Given the description of an element on the screen output the (x, y) to click on. 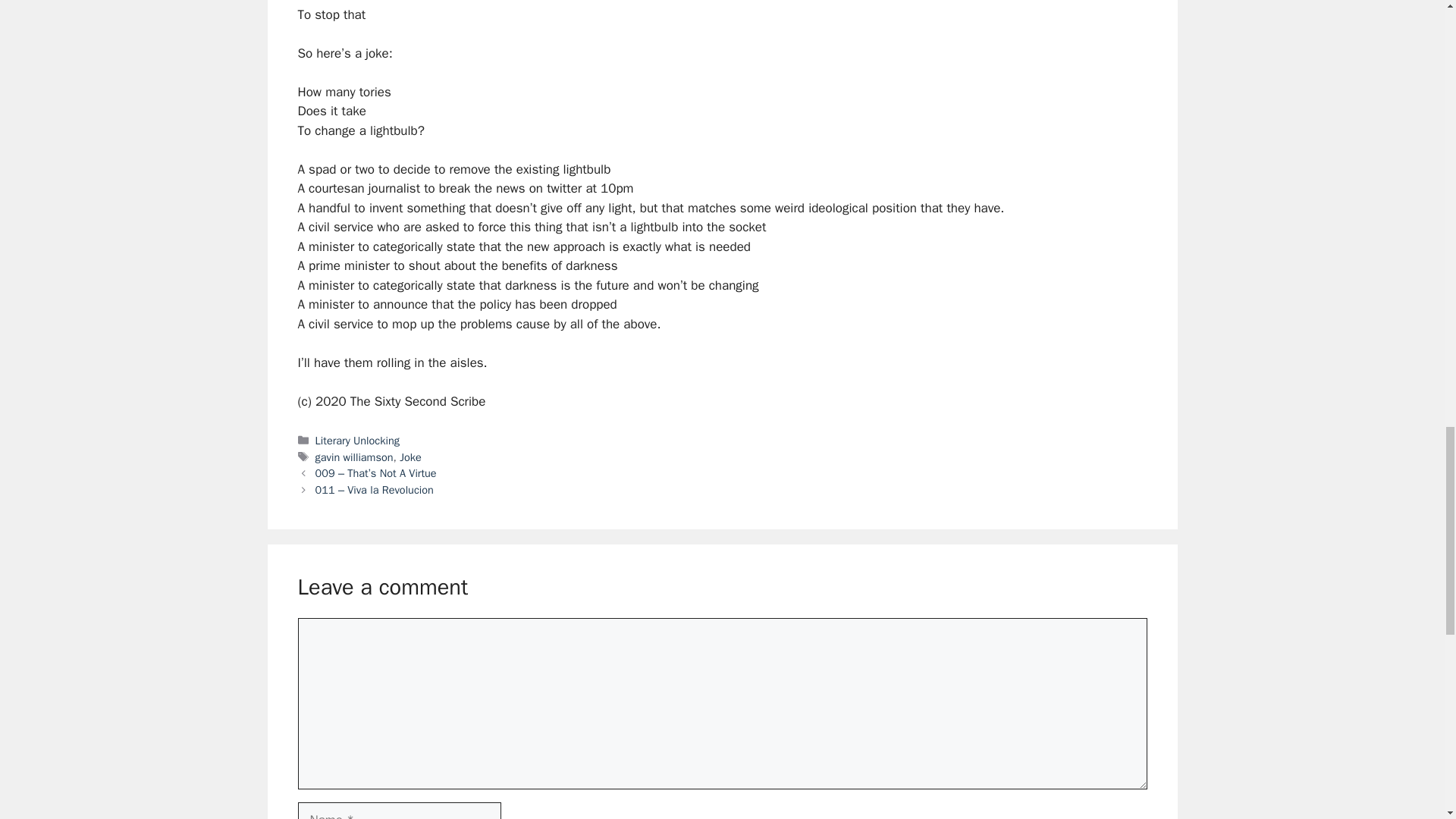
Literary Unlocking (356, 440)
gavin williamson (354, 457)
Joke (410, 457)
